Given the description of an element on the screen output the (x, y) to click on. 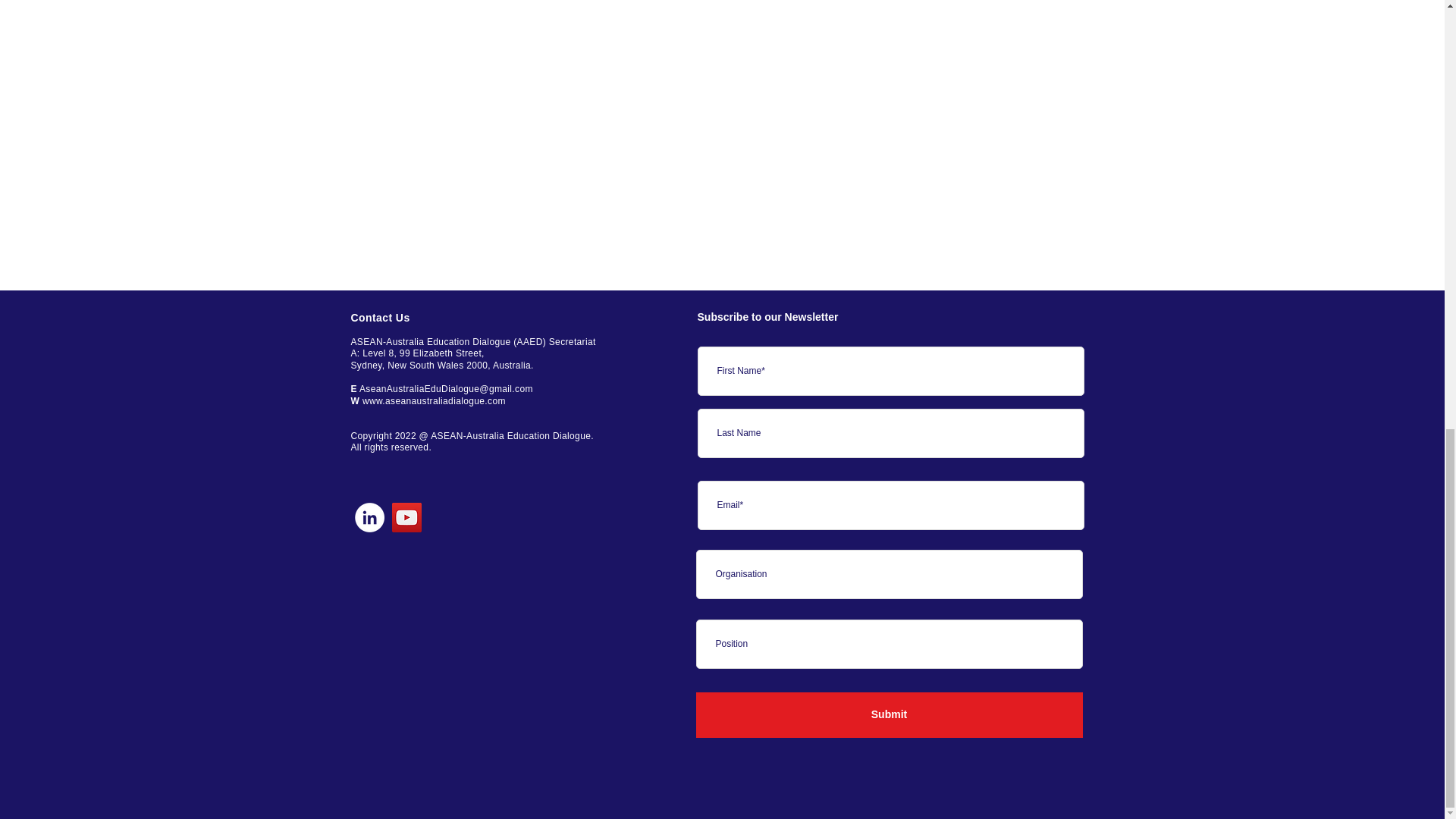
www.aseanaustraliadialogue.com (433, 400)
Submit (889, 714)
